Given the description of an element on the screen output the (x, y) to click on. 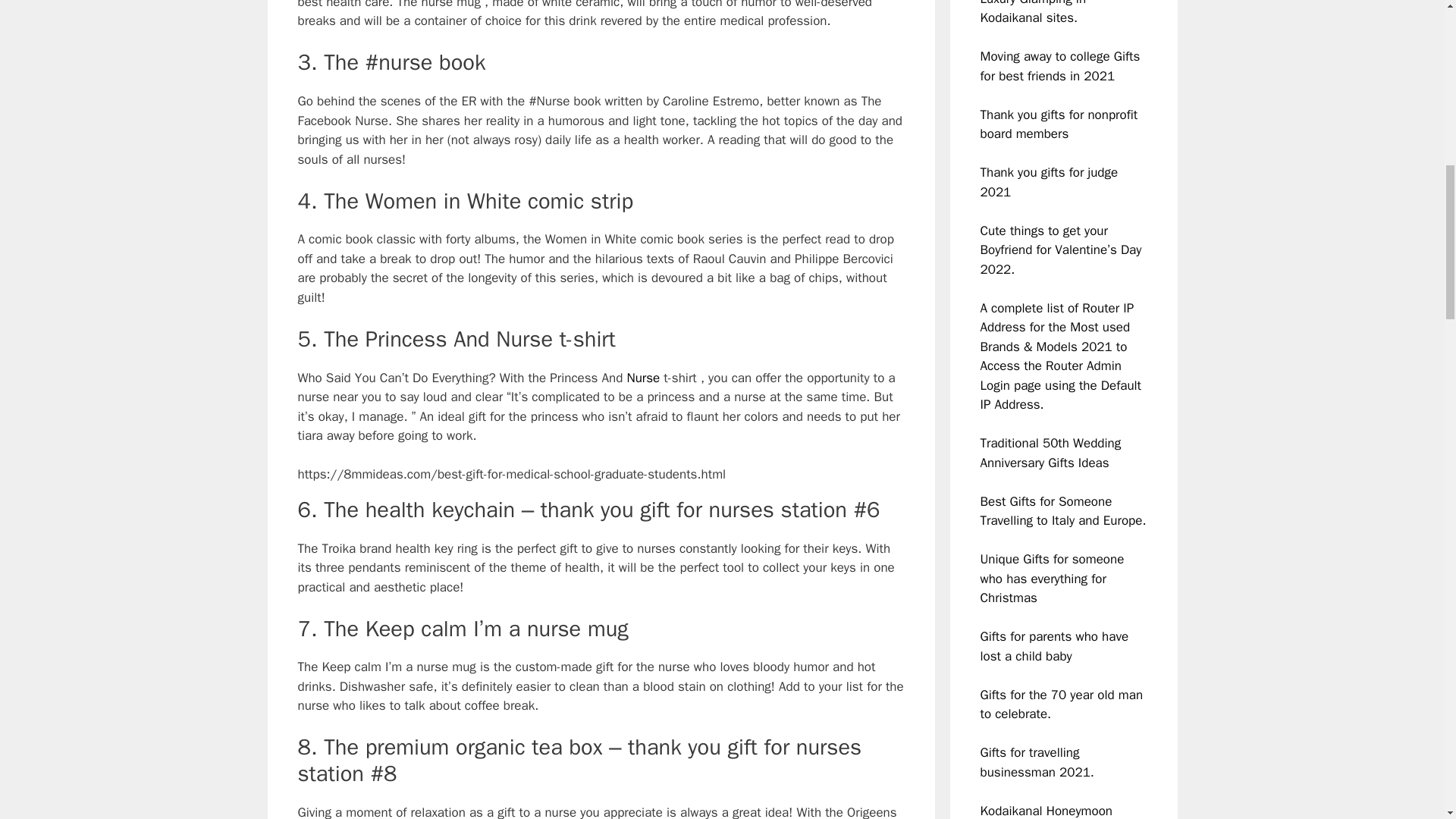
Nurse (642, 377)
Thank you gifts for nonprofit board members (1058, 123)
Moving away to college Gifts for best friends (1059, 66)
Luxury Glamping in Kodaikanal (1032, 13)
Thank you gifts for judge (1048, 172)
